Given the description of an element on the screen output the (x, y) to click on. 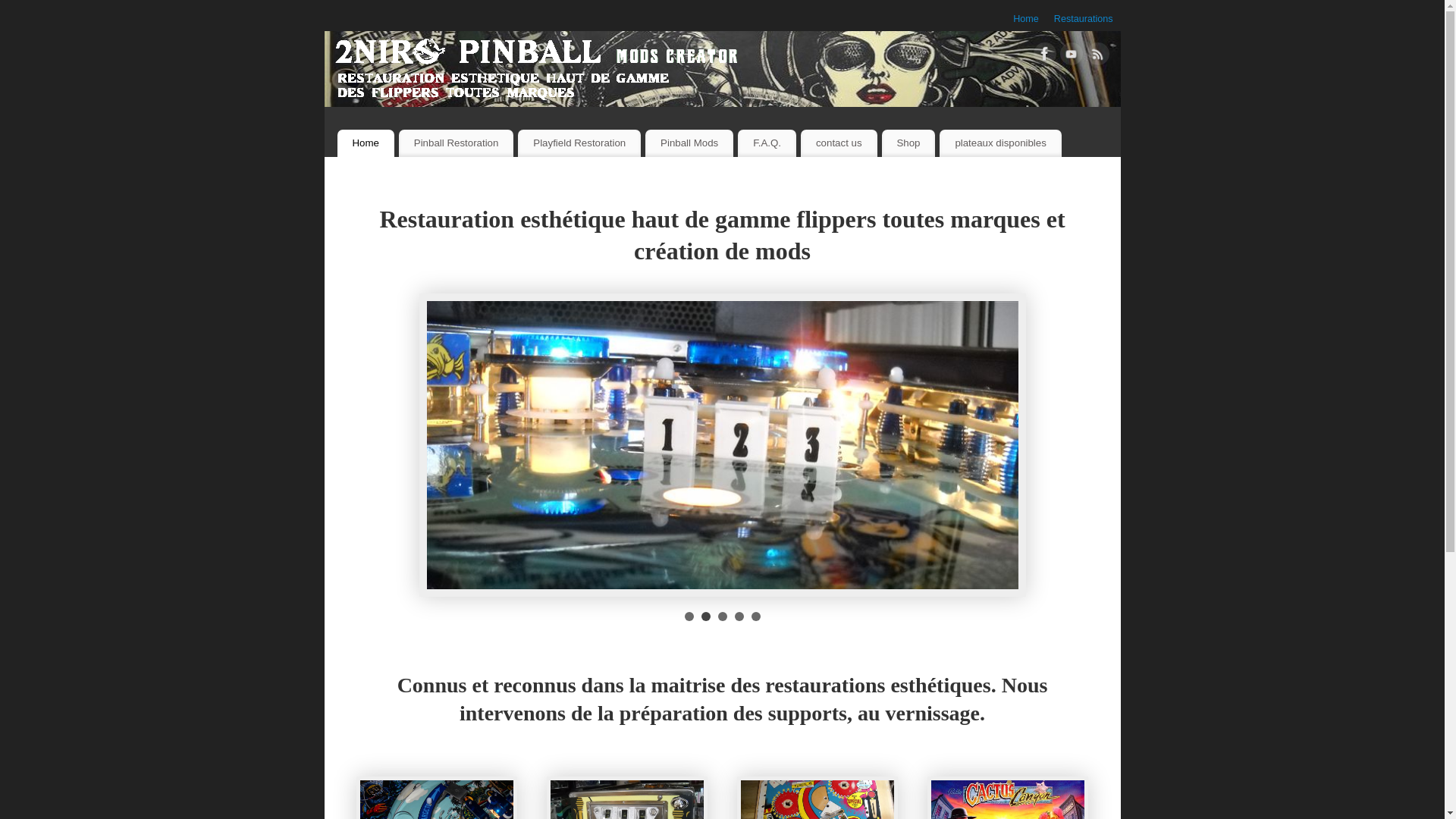
RSS Element type: hover (1096, 56)
5 Element type: text (754, 616)
Playfield Restoration Element type: text (578, 142)
plateaux disponibles Element type: text (999, 142)
Pinball Mods Element type: text (689, 142)
Facebook Element type: hover (1043, 56)
Home Element type: text (1025, 18)
1 Element type: text (688, 616)
3 Element type: text (721, 616)
Home Element type: text (364, 142)
YouTube Element type: hover (1071, 56)
F.A.Q. Element type: text (766, 142)
Pinball Restoration Element type: text (455, 142)
4 Element type: text (738, 616)
contact us Element type: text (838, 142)
2 Element type: text (704, 616)
Shop Element type: text (908, 142)
Restaurations Element type: text (1083, 18)
